Given the description of an element on the screen output the (x, y) to click on. 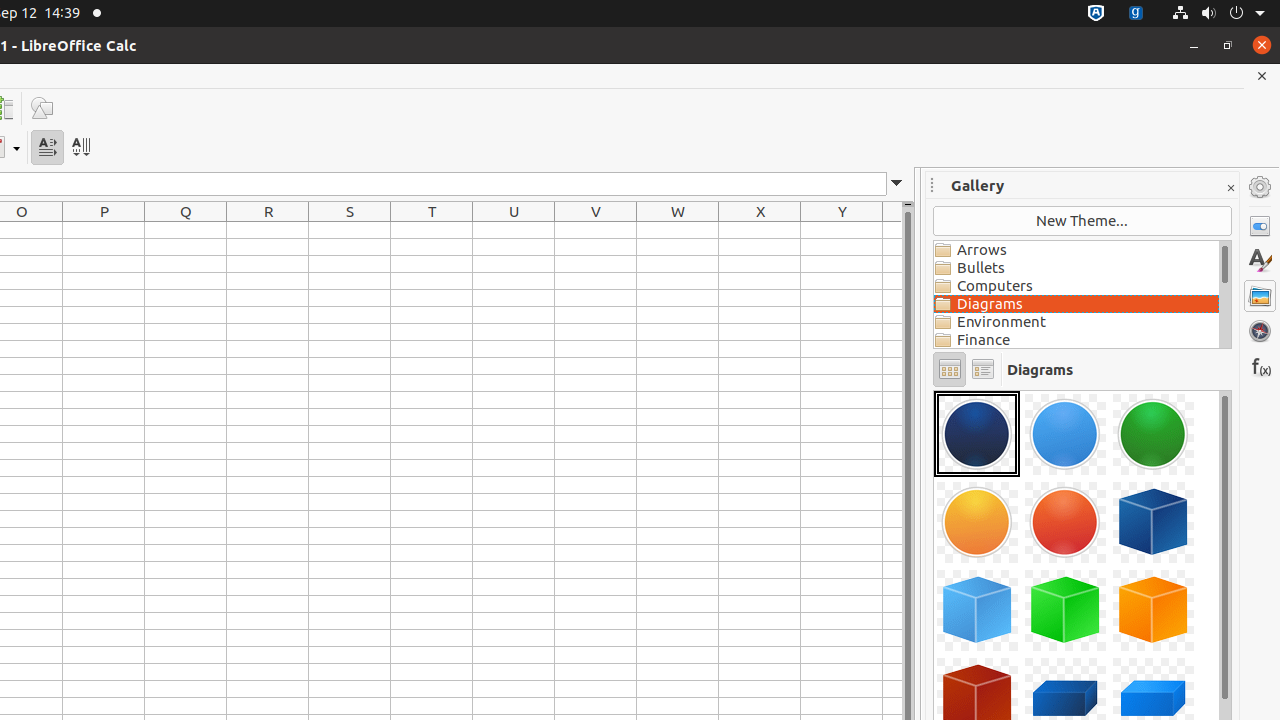
Q1 Element type: table-cell (186, 230)
Expand Formula Bar Element type: push-button (897, 183)
U1 Element type: table-cell (514, 230)
Y1 Element type: table-cell (842, 230)
Computers Element type: list-item (1076, 286)
